Given the description of an element on the screen output the (x, y) to click on. 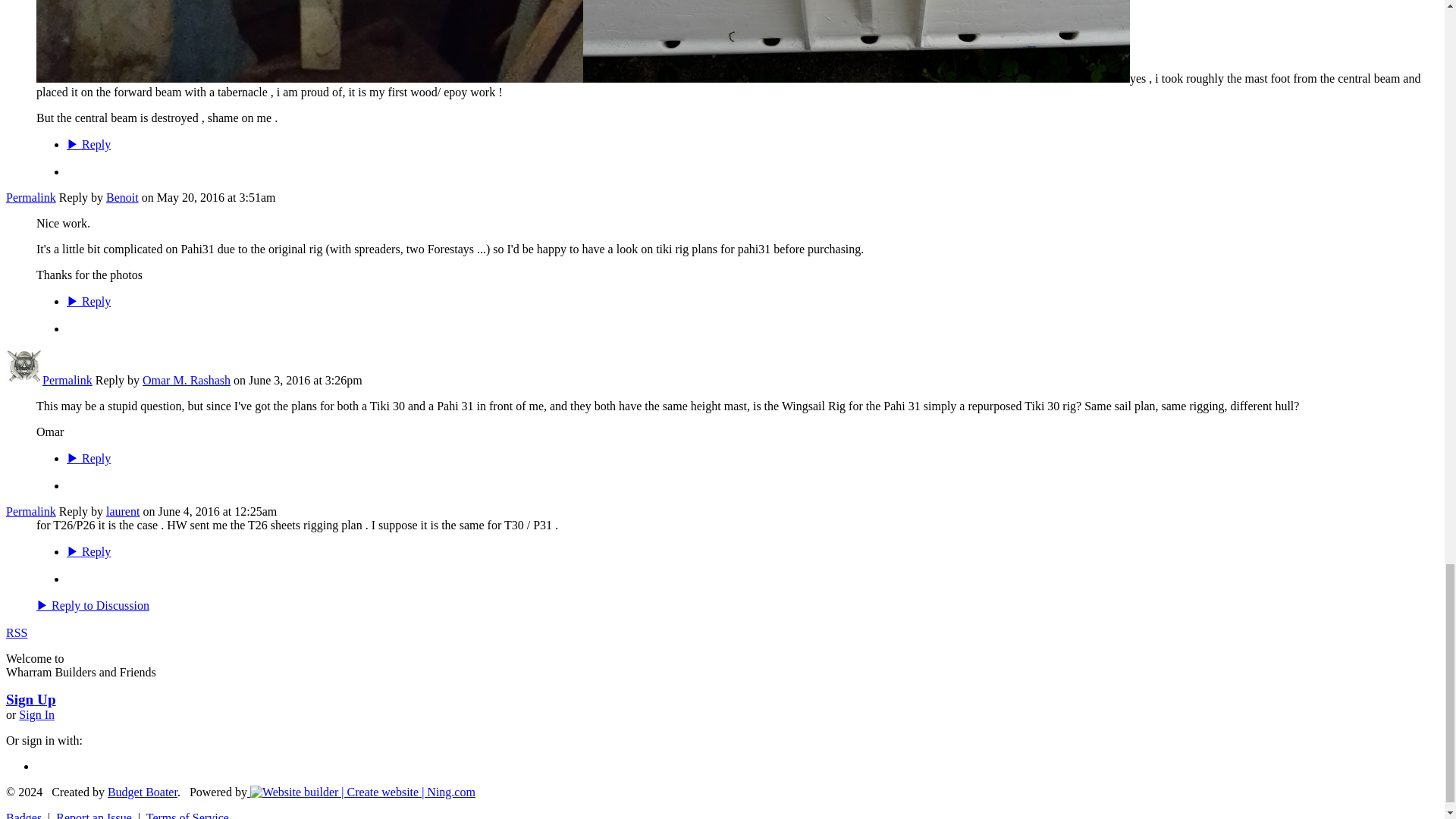
Ning Website Builder (363, 792)
Permalink to this Reply (30, 196)
Omar M. Rashash (23, 379)
Permalink to this Reply (30, 511)
Permalink to this Reply (67, 379)
